Given the description of an element on the screen output the (x, y) to click on. 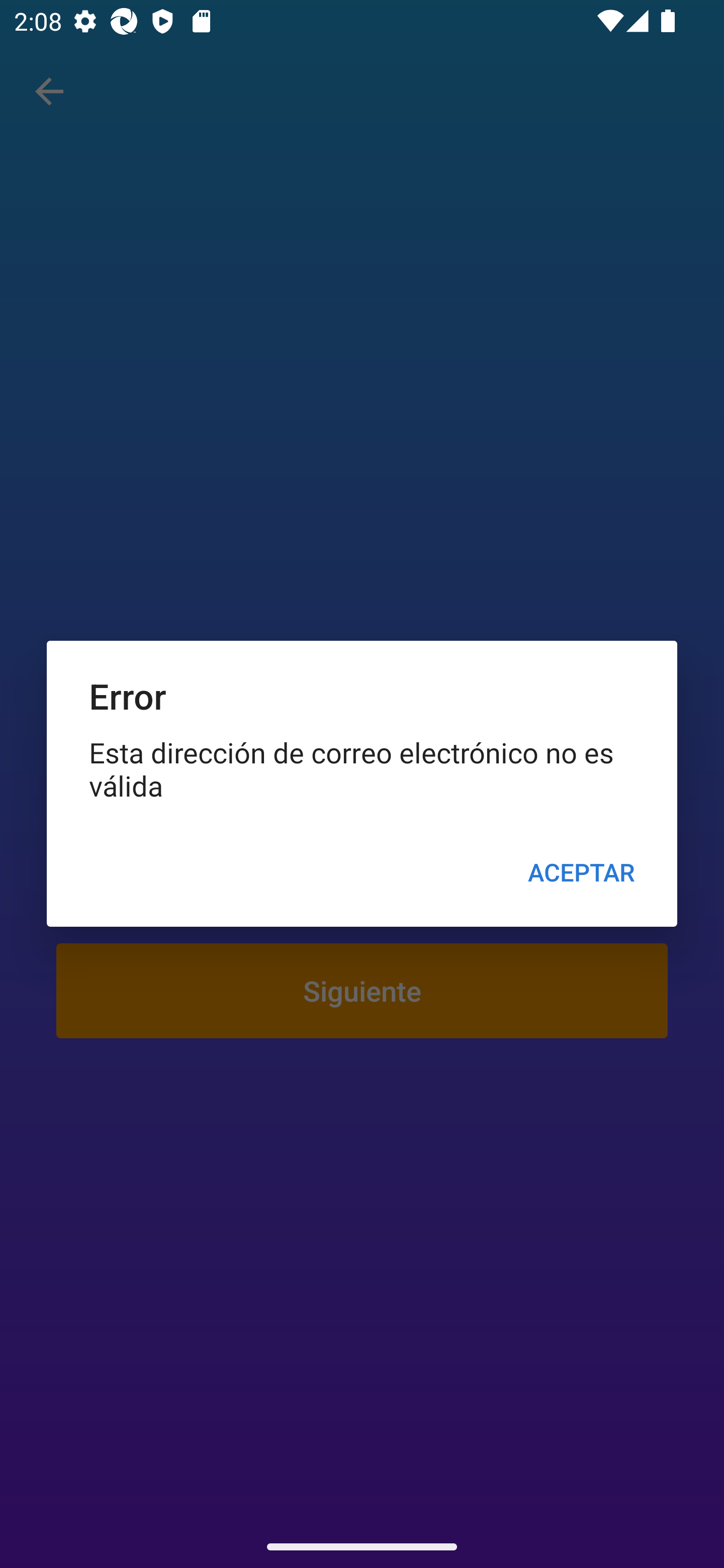
ACEPTAR (580, 872)
